Given the description of an element on the screen output the (x, y) to click on. 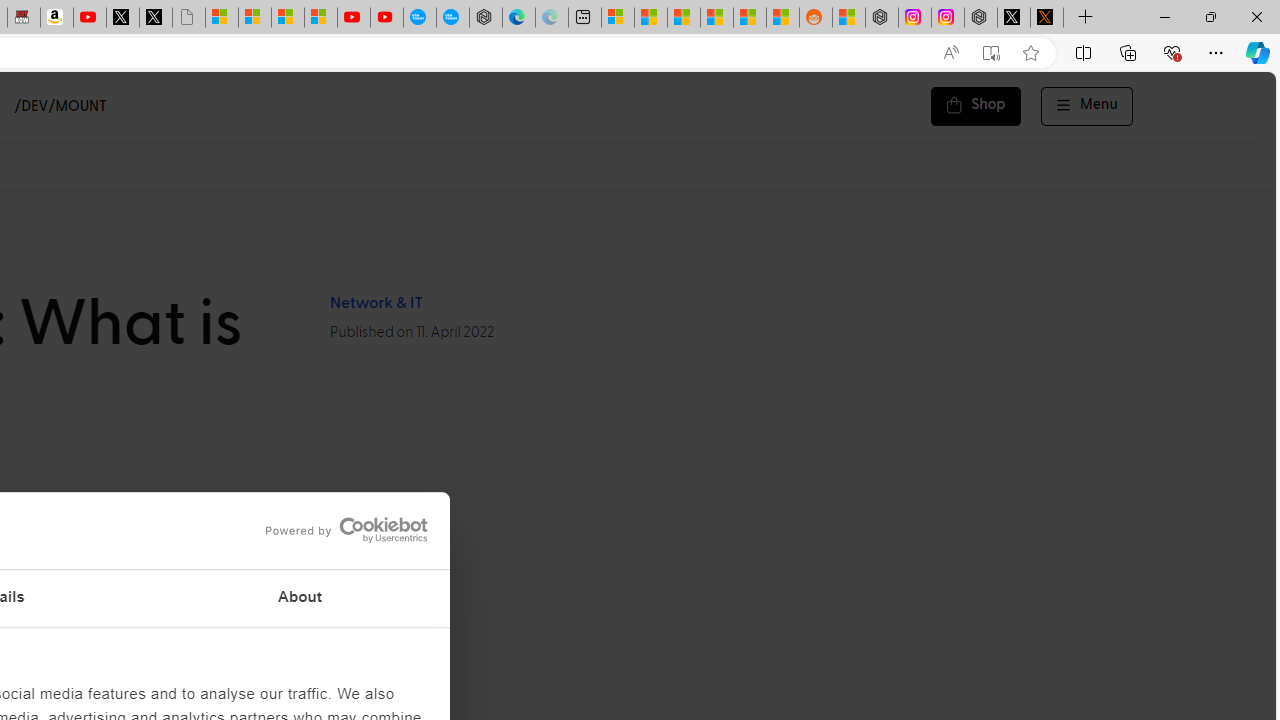
Shop (975, 106)
Network & IT (375, 303)
Nordace (@NordaceOfficial) / X (1014, 17)
Enter Immersive Reader (F9) (991, 53)
About (299, 598)
Untitled (188, 17)
Shanghai, China Weather trends | Microsoft Weather (782, 17)
